Given the description of an element on the screen output the (x, y) to click on. 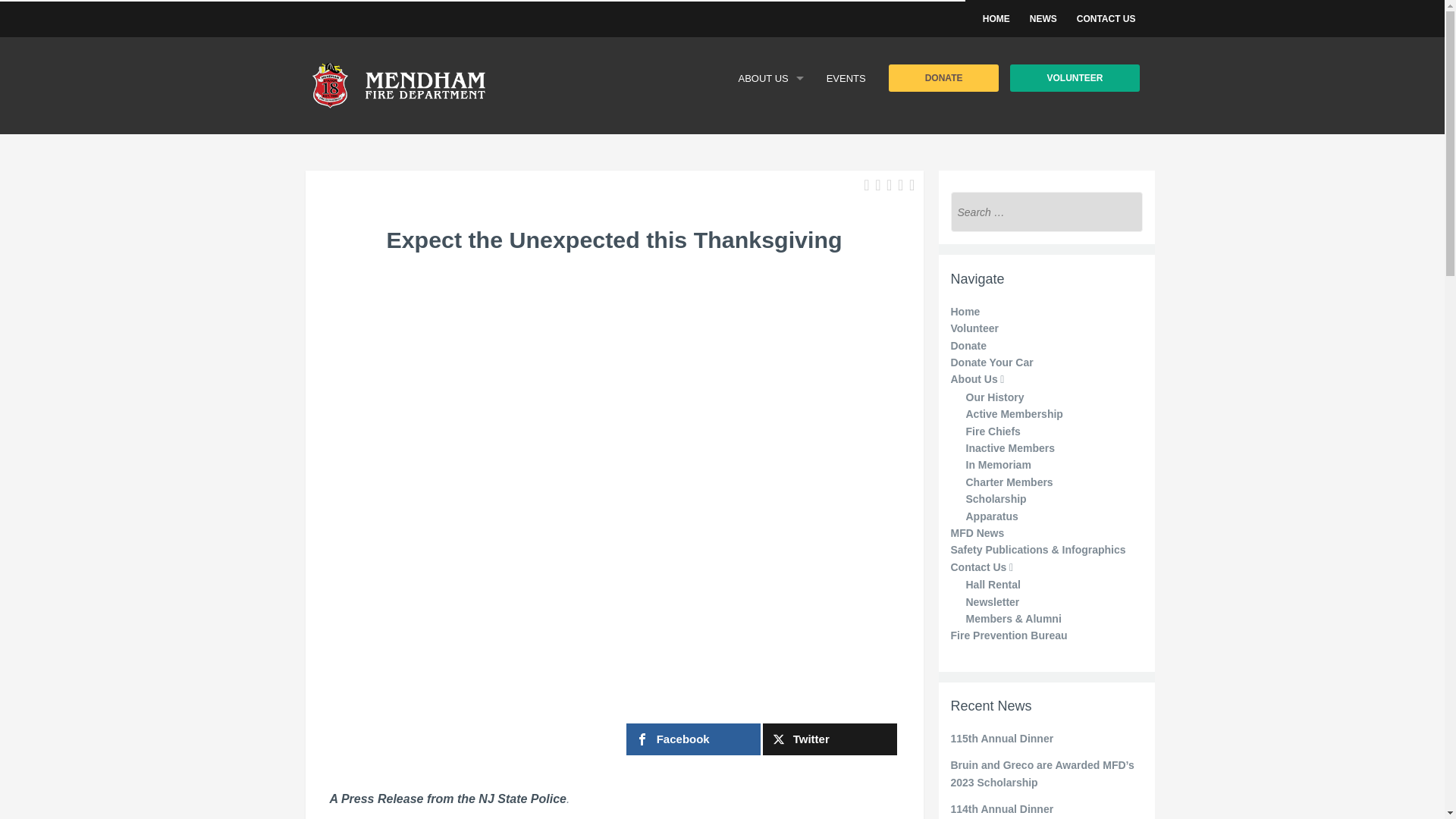
FIRE CHIEFS (769, 180)
INACTIVE MEMBERS (769, 214)
SCHOLARSHIP (769, 317)
HOME (995, 18)
ABOUT US (769, 78)
CHARTER MEMBERS (769, 283)
CONTACT US (1106, 18)
A Press Release from the NJ State Police (447, 798)
APPARATUS (769, 351)
Twitter (829, 739)
Facebook (693, 739)
OUR HISTORY (769, 112)
IN MEMORIAM (769, 248)
EVENTS (846, 78)
NEWS (1043, 18)
